Given the description of an element on the screen output the (x, y) to click on. 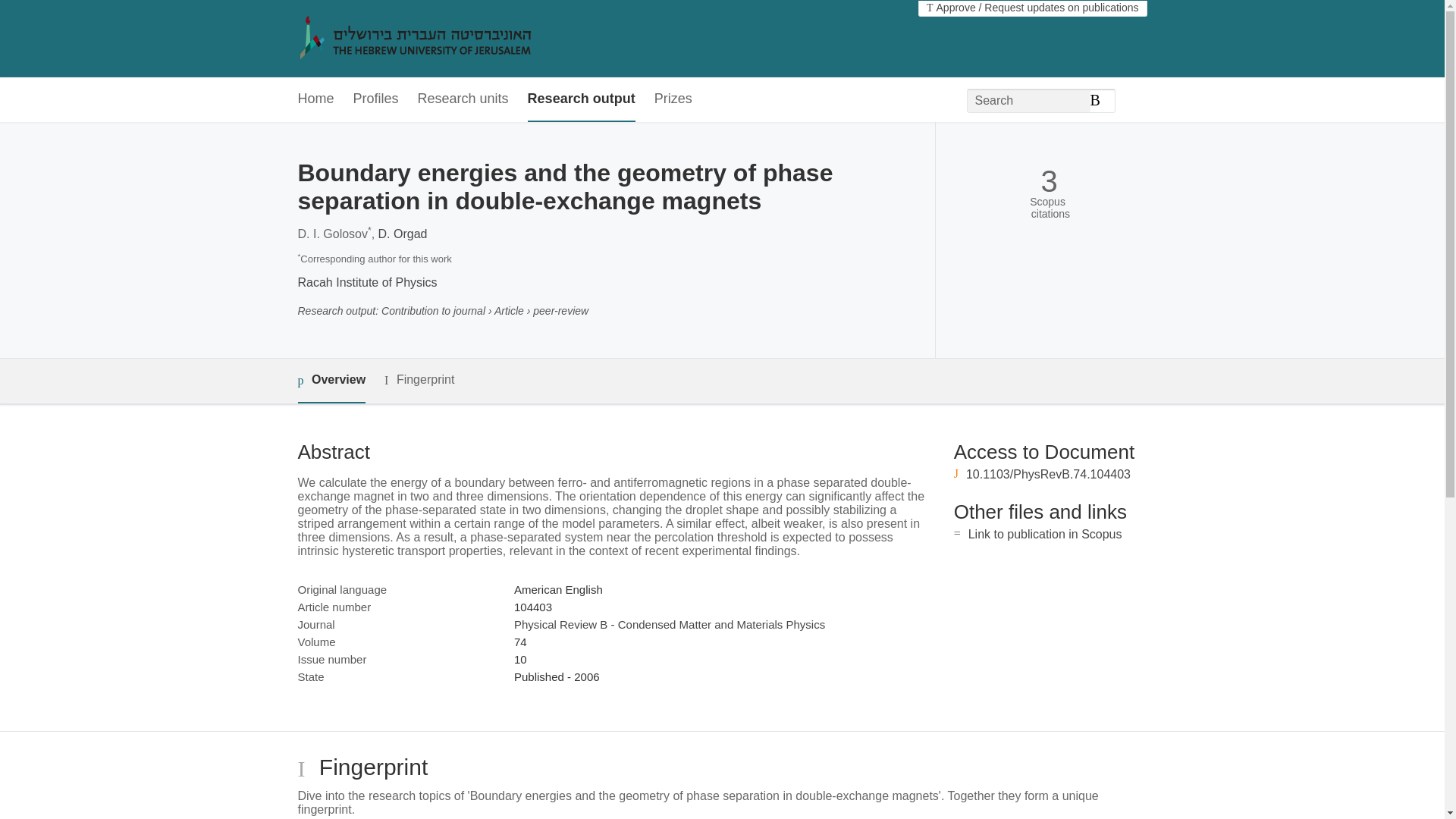
Overview (331, 380)
The Hebrew University of Jerusalem Home (447, 38)
Research output (580, 99)
Physical Review B - Condensed Matter and Materials Physics (669, 624)
Link to publication in Scopus (1045, 533)
Research units (462, 99)
Fingerprint (419, 380)
Profiles (375, 99)
D. Orgad (403, 233)
